Given the description of an element on the screen output the (x, y) to click on. 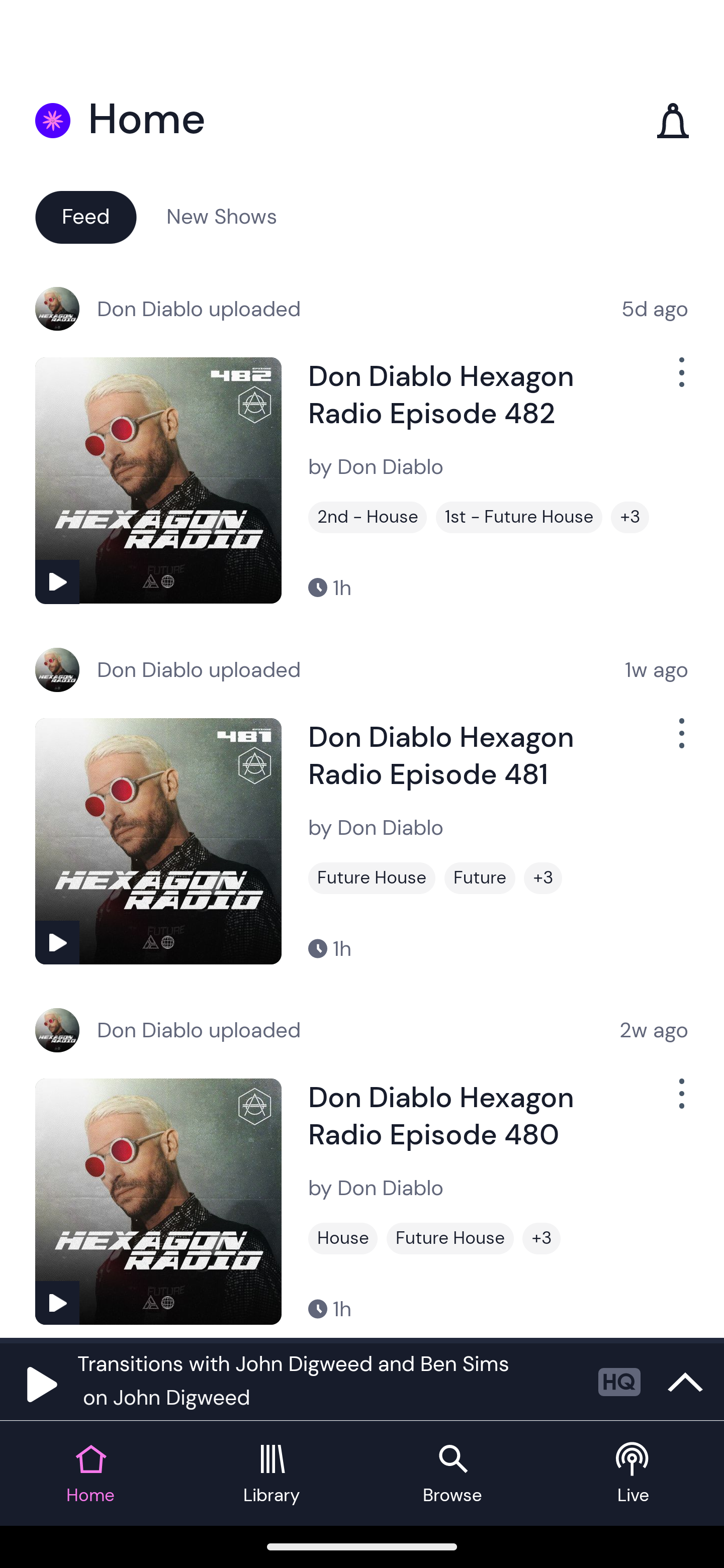
Feed (85, 216)
New Shows (221, 216)
Show Options Menu Button (679, 379)
2nd - House (367, 517)
1st - Future House (518, 517)
Show Options Menu Button (679, 740)
Future House (371, 877)
Future (479, 877)
Show Options Menu Button (679, 1101)
House (342, 1238)
Future House (450, 1238)
Home tab Home (90, 1473)
Library tab Library (271, 1473)
Browse tab Browse (452, 1473)
Live tab Live (633, 1473)
